Given the description of an element on the screen output the (x, y) to click on. 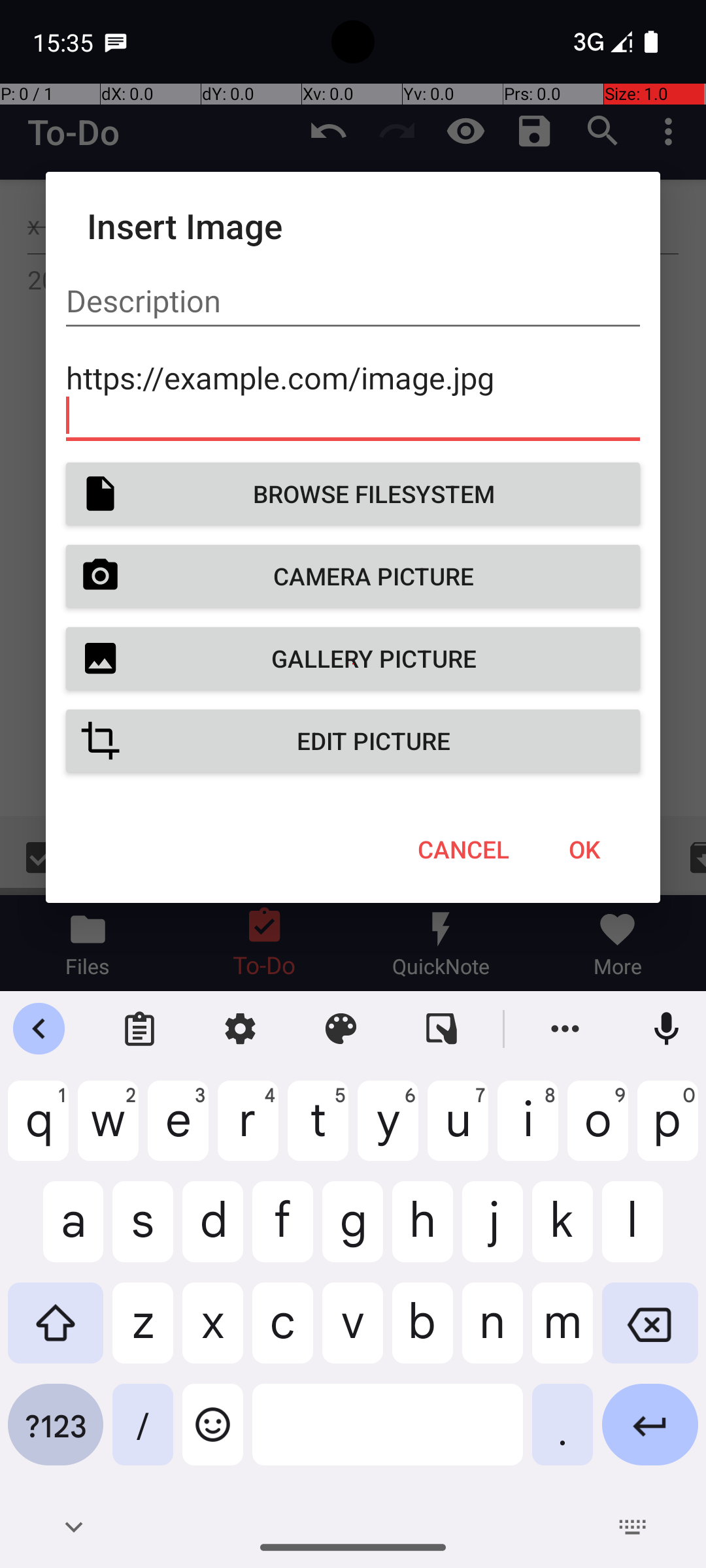
Insert Image Element type: android.widget.TextView (352, 225)
Description Element type: android.widget.EditText (352, 300)
https://example.com/image.jpg
 Element type: android.widget.EditText (352, 395)
BROWSE FILESYSTEM Element type: android.widget.Button (352, 493)
CAMERA PICTURE Element type: android.widget.Button (352, 576)
GALLERY PICTURE Element type: android.widget.Button (352, 658)
EDIT PICTURE Element type: android.widget.Button (352, 740)
Theme settings Element type: android.widget.FrameLayout (340, 1028)
One handed mode Element type: android.widget.FrameLayout (441, 1028)
slash Element type: android.widget.FrameLayout (142, 1434)
